Given the description of an element on the screen output the (x, y) to click on. 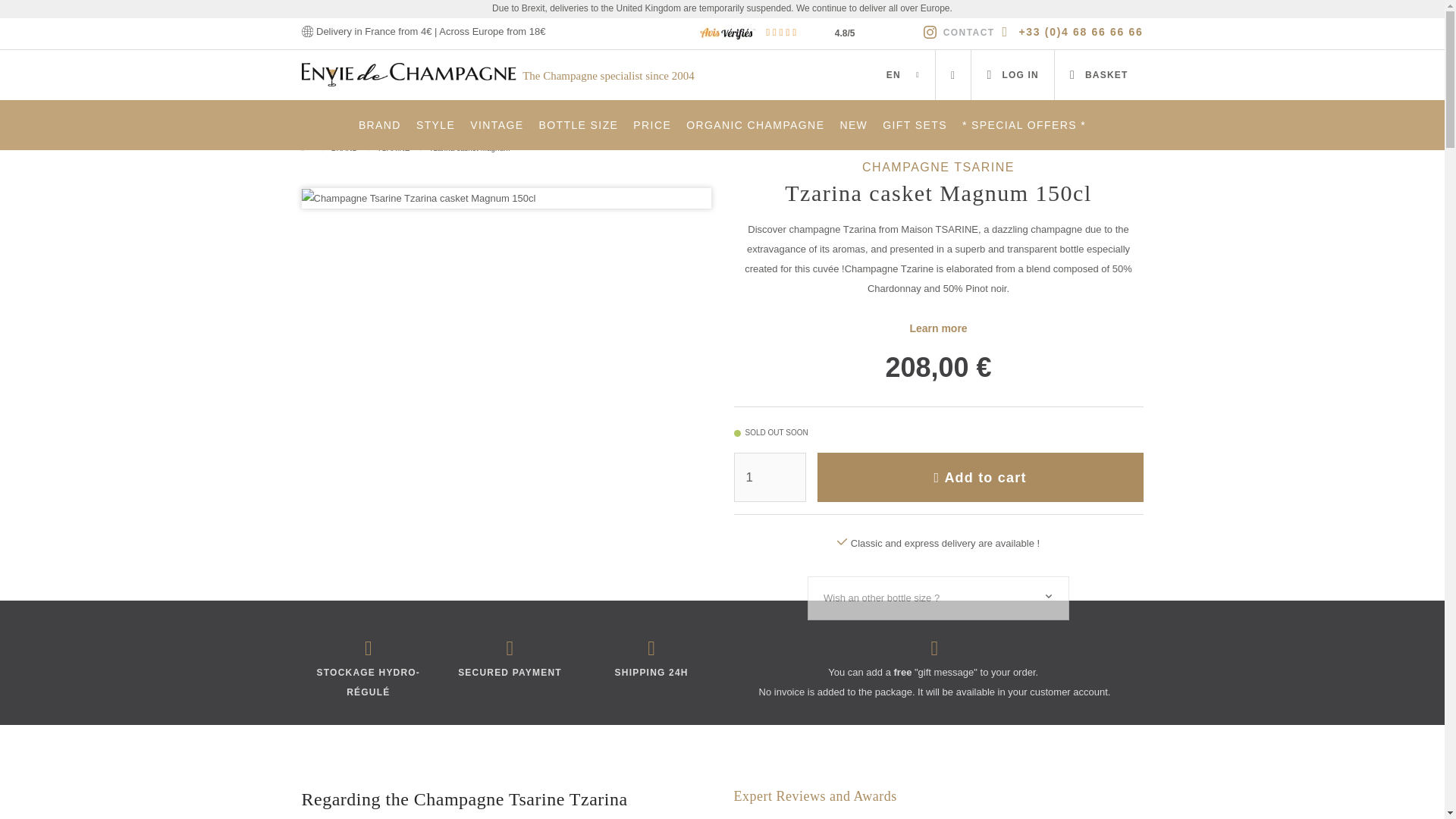
Envie de Champagne, Buy Champagne online at the best price! (410, 73)
View my shopping cart (1098, 74)
Follow us on Instagram (929, 31)
My account (1012, 74)
1 (769, 477)
Brand (379, 124)
CONTACT (968, 32)
BASKET (1098, 74)
LOG IN (1012, 74)
BRAND (379, 124)
